Given the description of an element on the screen output the (x, y) to click on. 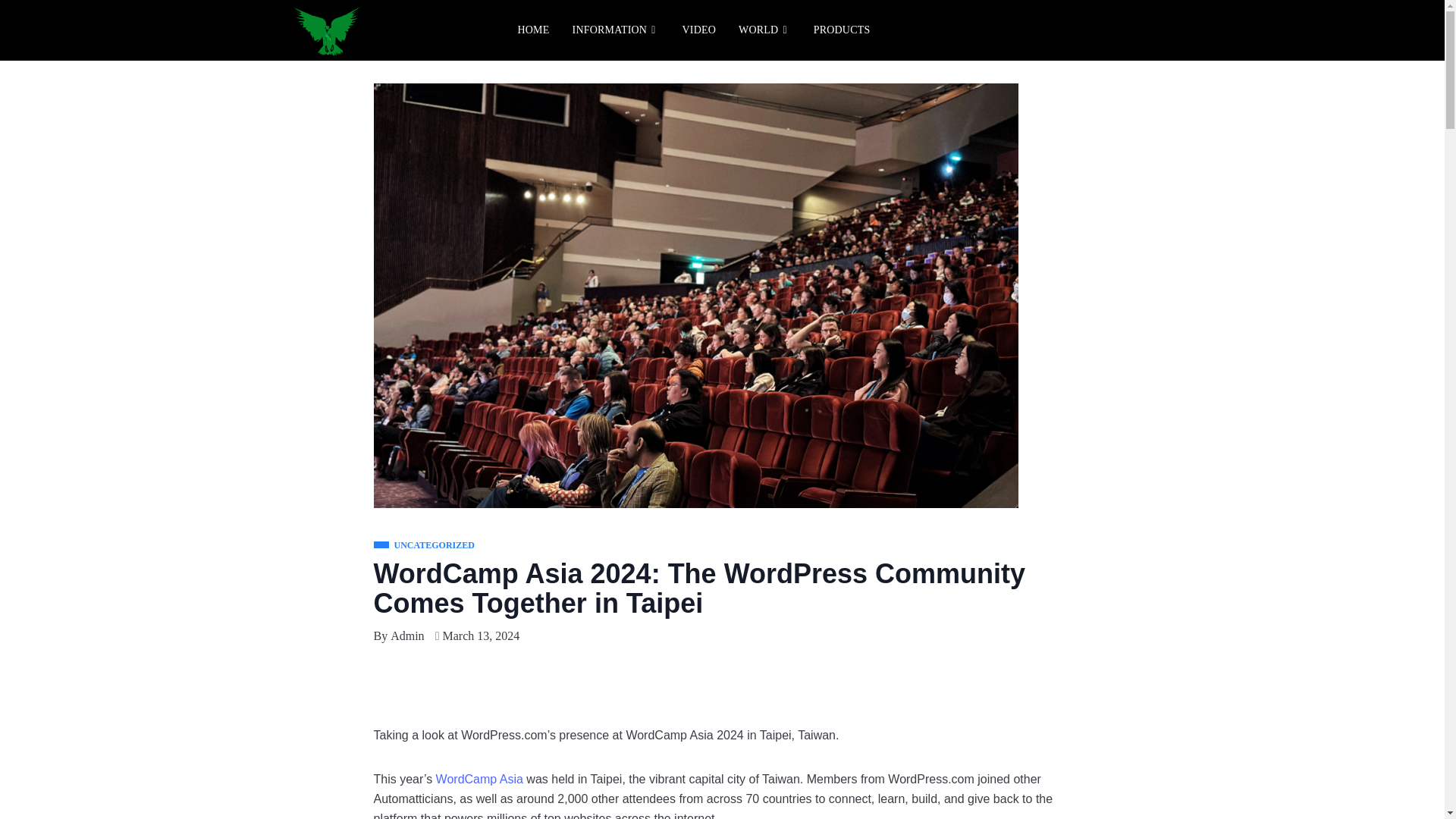
WordCamp Asia (478, 779)
INFORMATION (615, 30)
HOME (533, 30)
PRODUCTS (842, 30)
WORLD (764, 30)
Admin (406, 636)
UNCATEGORIZED (423, 545)
VIDEO (699, 30)
